Given the description of an element on the screen output the (x, y) to click on. 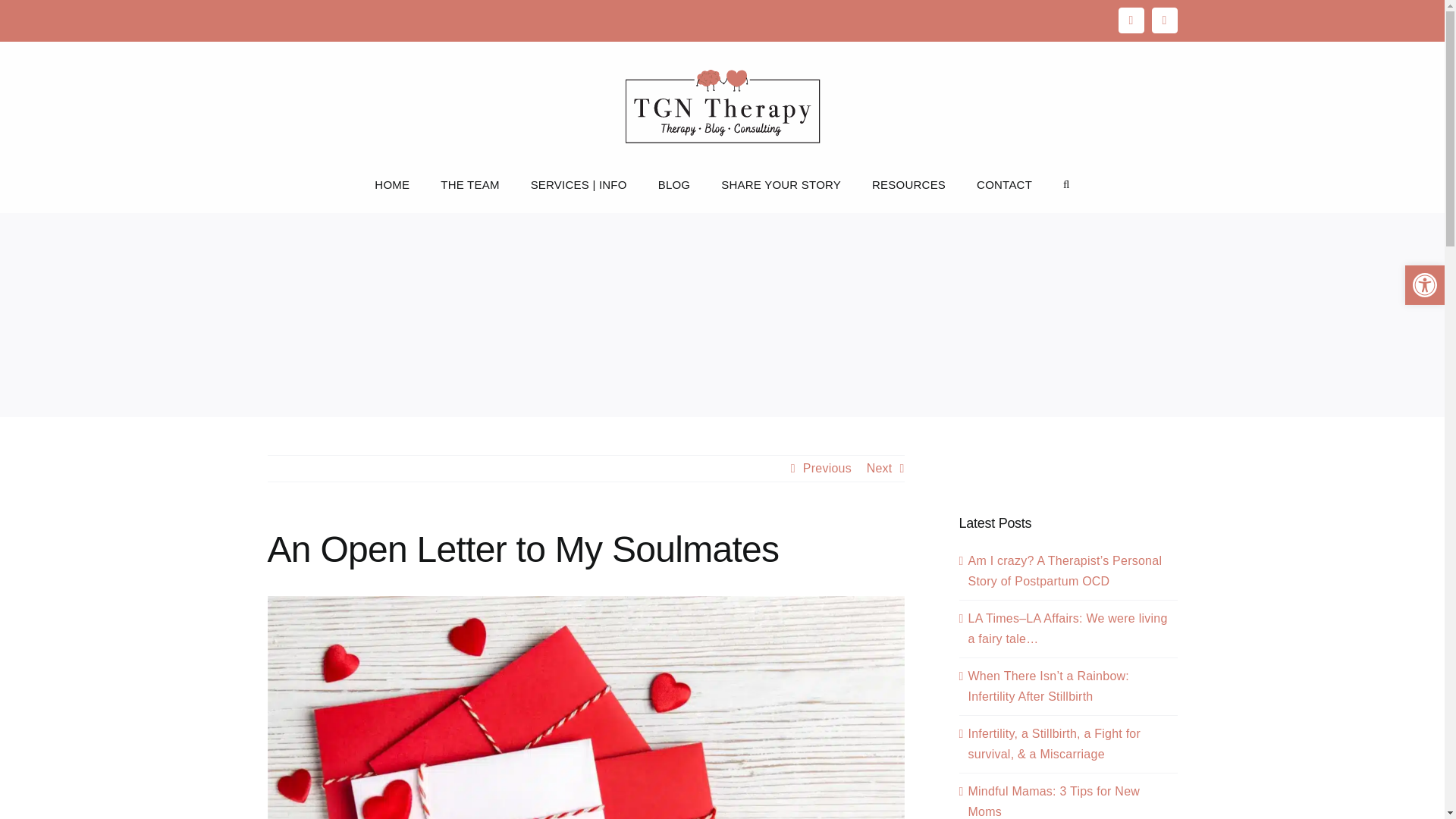
Facebook (1130, 20)
Instagram (1163, 20)
THE TEAM (470, 184)
RESOURCES (908, 184)
SHARE YOUR STORY (780, 184)
